Given the description of an element on the screen output the (x, y) to click on. 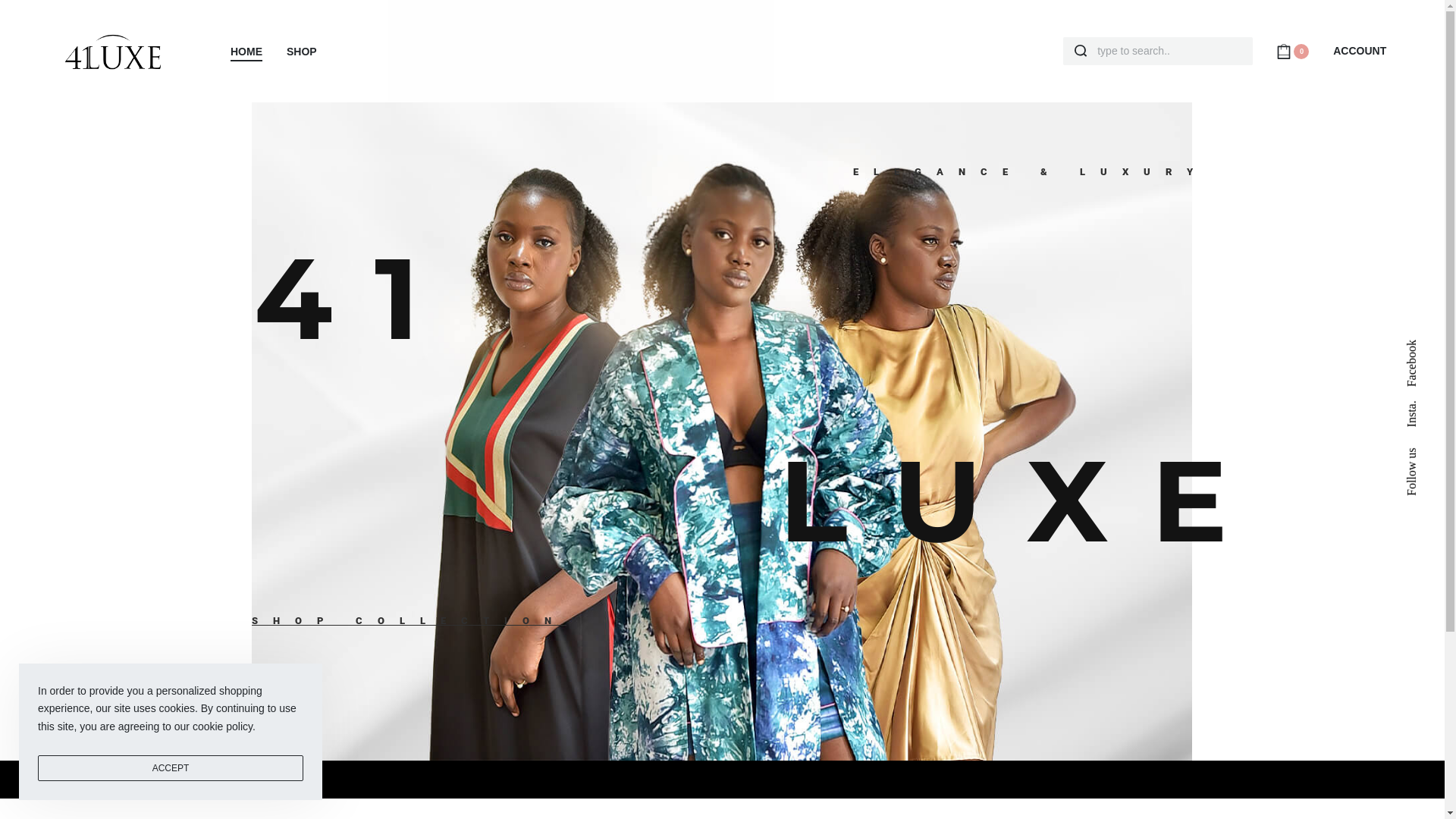
Insta. Element type: text (1418, 406)
Facebook Element type: text (1428, 345)
0 Element type: text (1292, 50)
ACCEPT Element type: text (170, 768)
SHOP Element type: text (301, 52)
HOME Element type: text (246, 52)
SHOP COLLECTION Element type: text (408, 620)
ACCOUNT Element type: text (1360, 50)
